Given the description of an element on the screen output the (x, y) to click on. 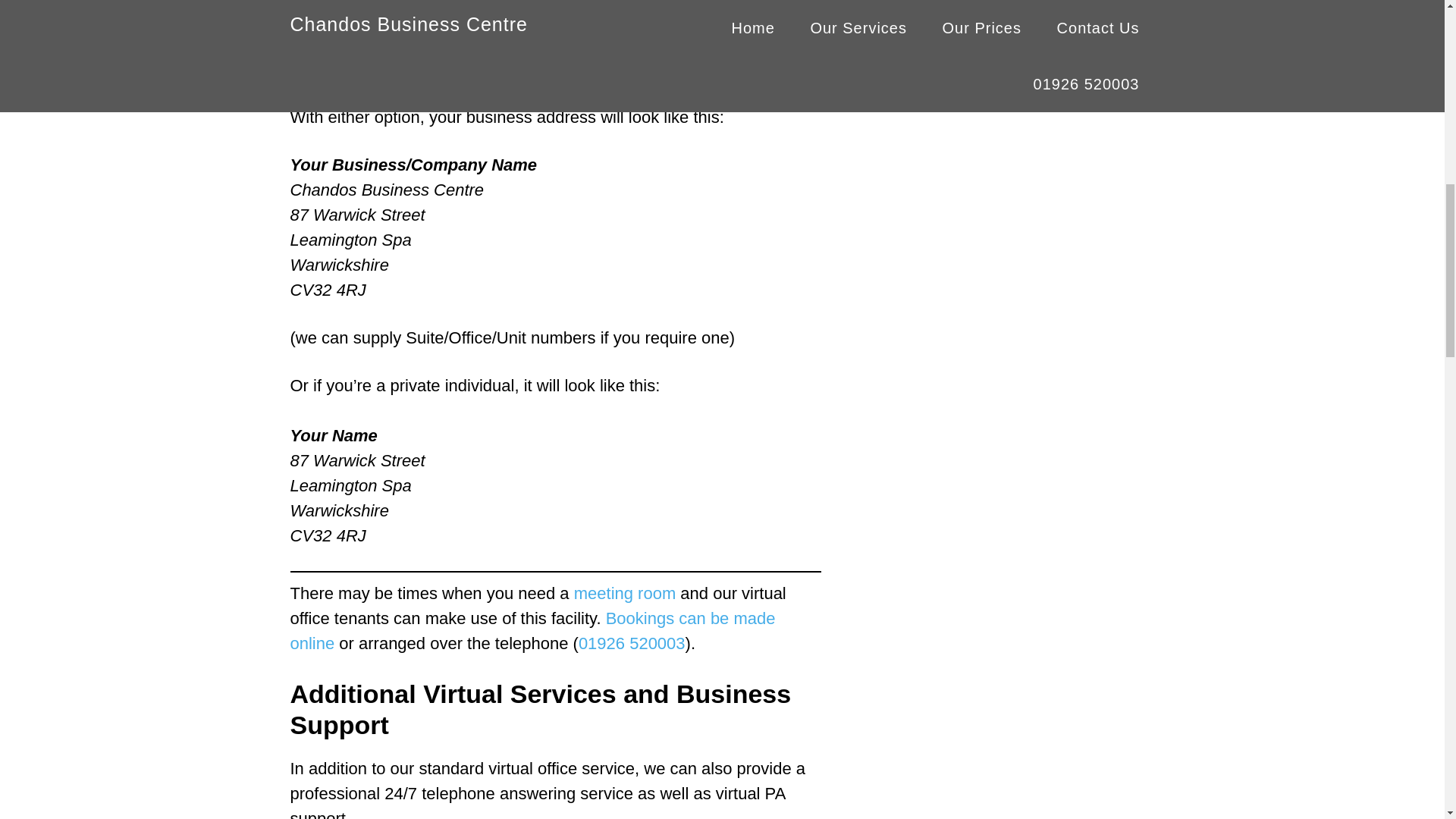
Bookings can be made online (531, 630)
meeting room (625, 592)
Click here to apply now. (659, 58)
01926 520003 (631, 642)
